Given the description of an element on the screen output the (x, y) to click on. 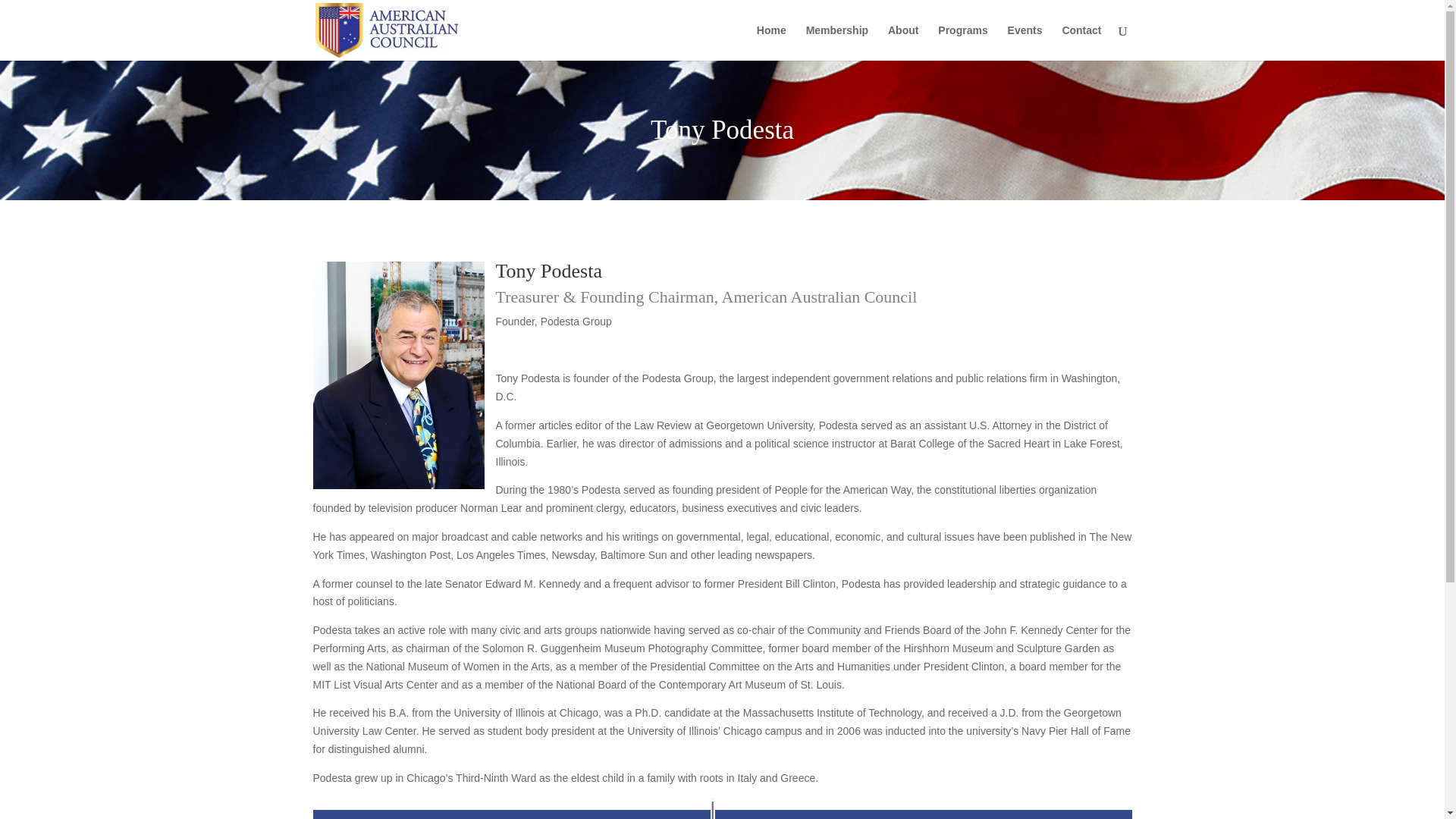
Contact (1080, 42)
Membership (836, 42)
Programs (962, 42)
Events (1024, 42)
